Given the description of an element on the screen output the (x, y) to click on. 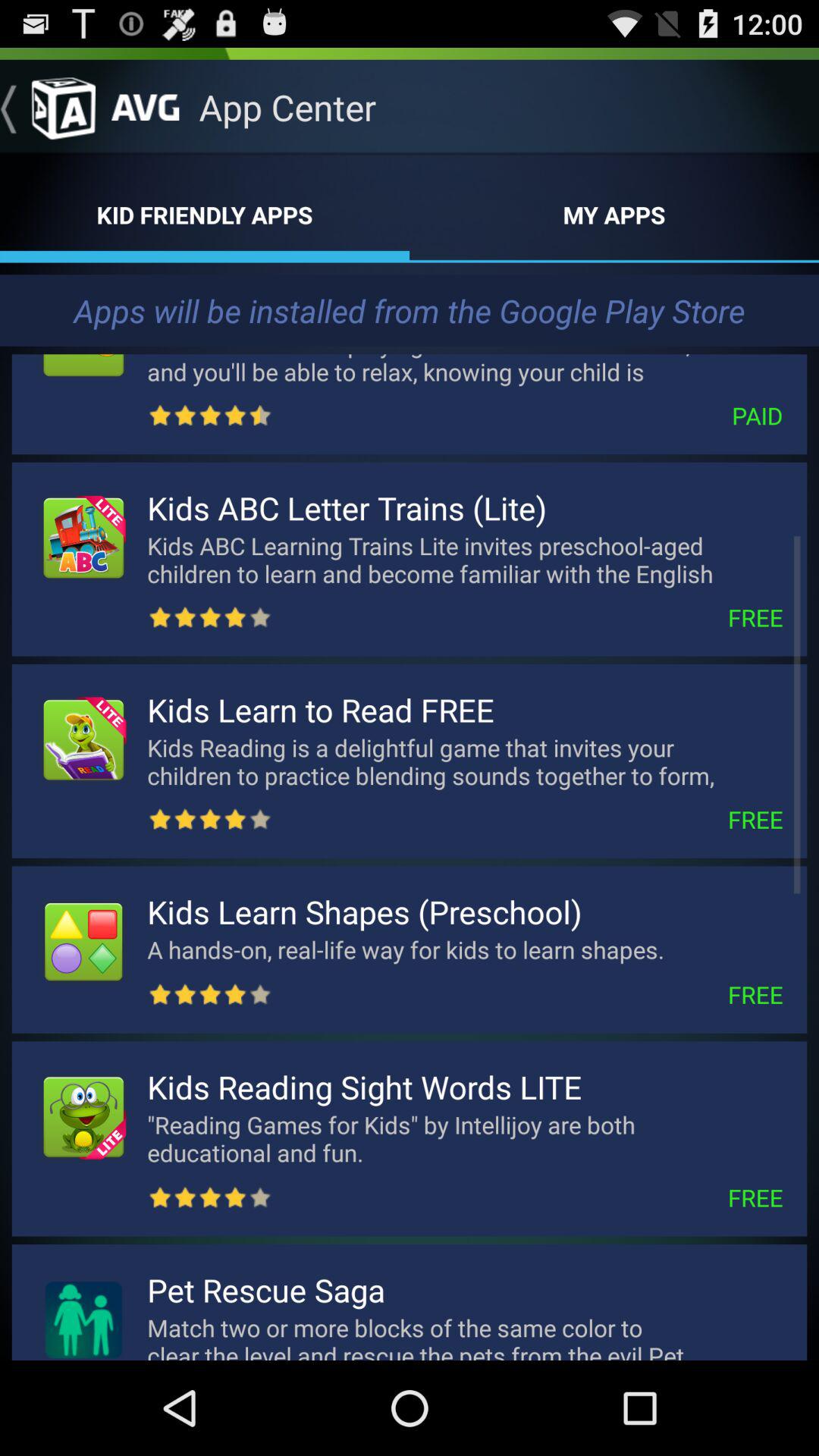
go back (47, 107)
